Given the description of an element on the screen output the (x, y) to click on. 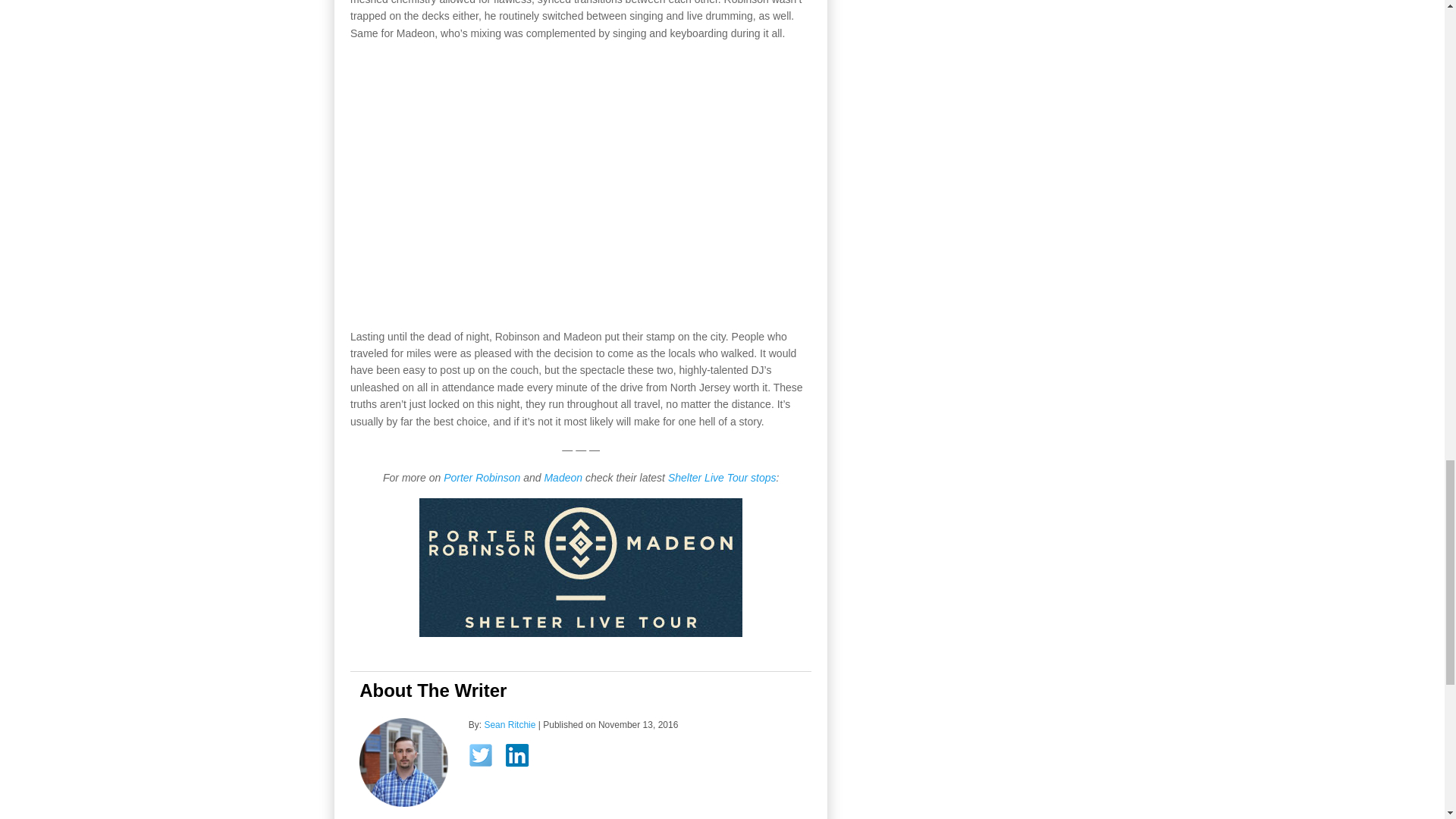
LinkedIn: Sean Ritchie (521, 757)
Porter Robinson (481, 477)
Sean Ritchie (509, 724)
Madeon (562, 477)
Shelter Live Tour stops (722, 477)
Sean Ritchie (509, 724)
Twitter: Sean Ritchie (485, 759)
Sean Ritchie (403, 803)
